Given the description of an element on the screen output the (x, y) to click on. 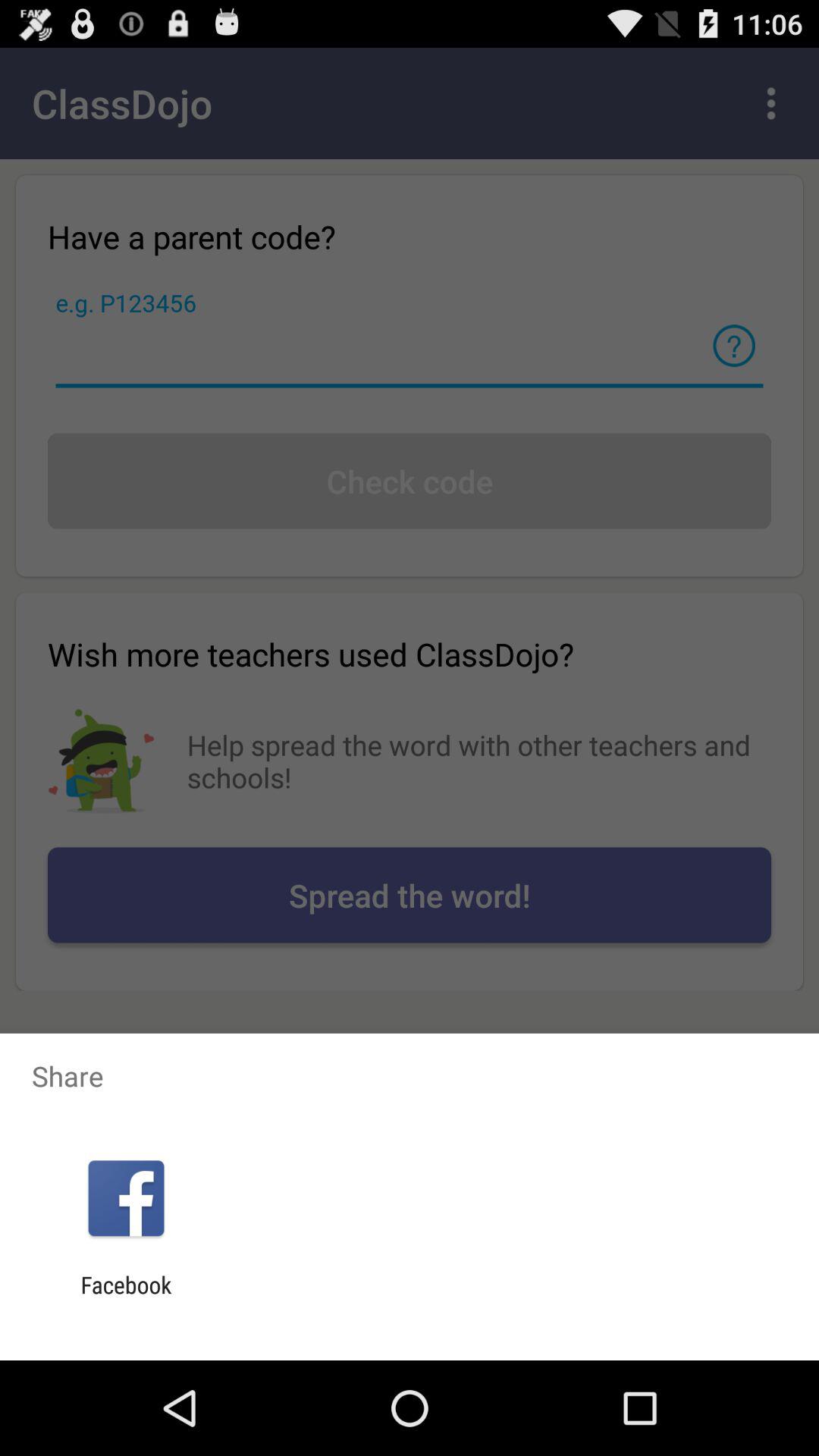
launch app above the facebook item (126, 1198)
